Given the description of an element on the screen output the (x, y) to click on. 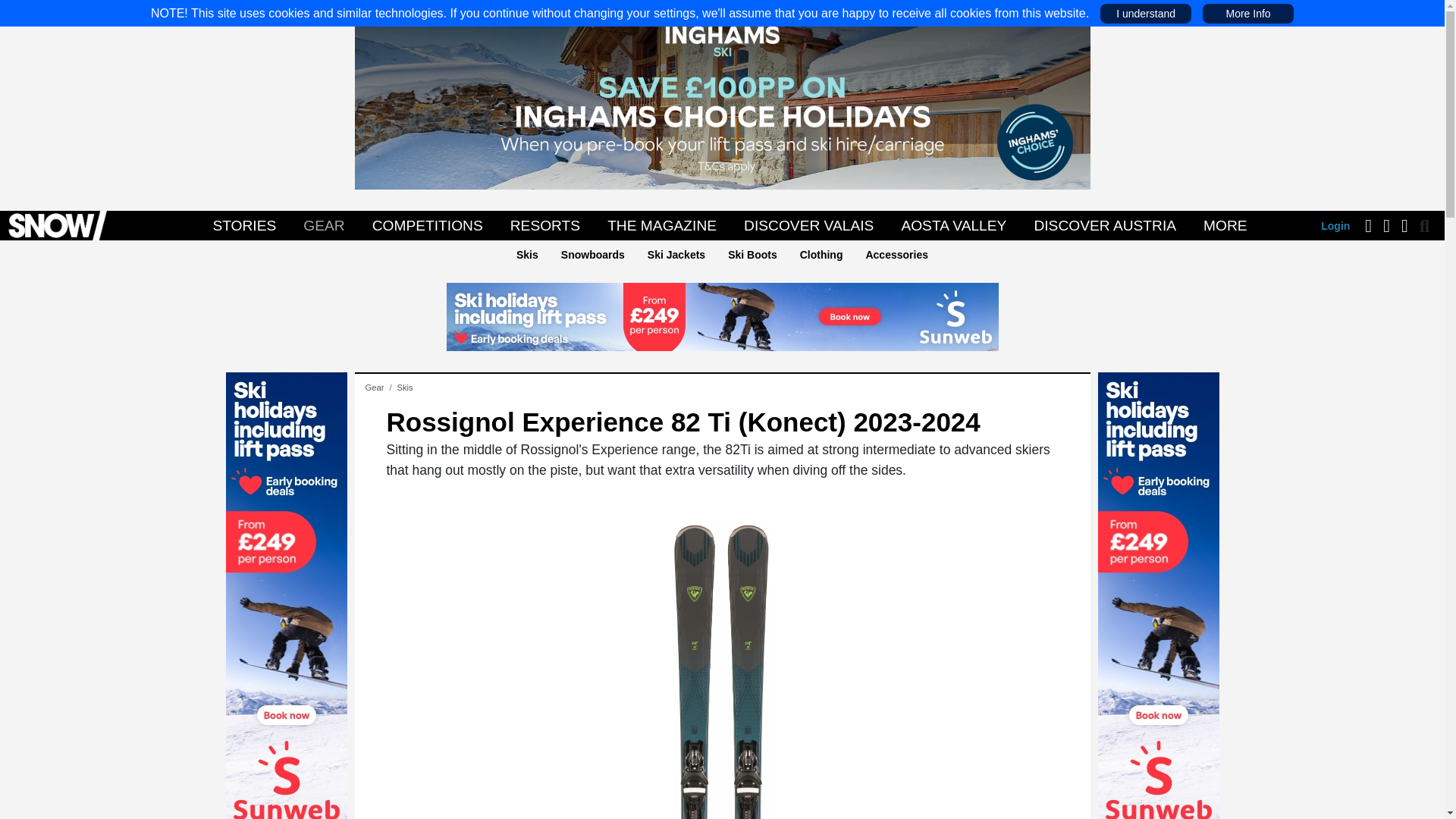
Ski Jackets (675, 254)
Sunweb leaderboard July 24 (721, 314)
Clothing (821, 254)
GEAR (323, 225)
Login (1334, 225)
DISCOVER VALAIS (808, 225)
AOSTA VALLEY (953, 225)
Skis (404, 387)
DISCOVER AUSTRIA (1104, 225)
Sunweb outside right July 24 (1158, 598)
More Info (1247, 13)
Snowboards (592, 254)
Inghams billboard July 24 (722, 93)
Ski Boots (752, 254)
COMPETITIONS (427, 225)
